Given the description of an element on the screen output the (x, y) to click on. 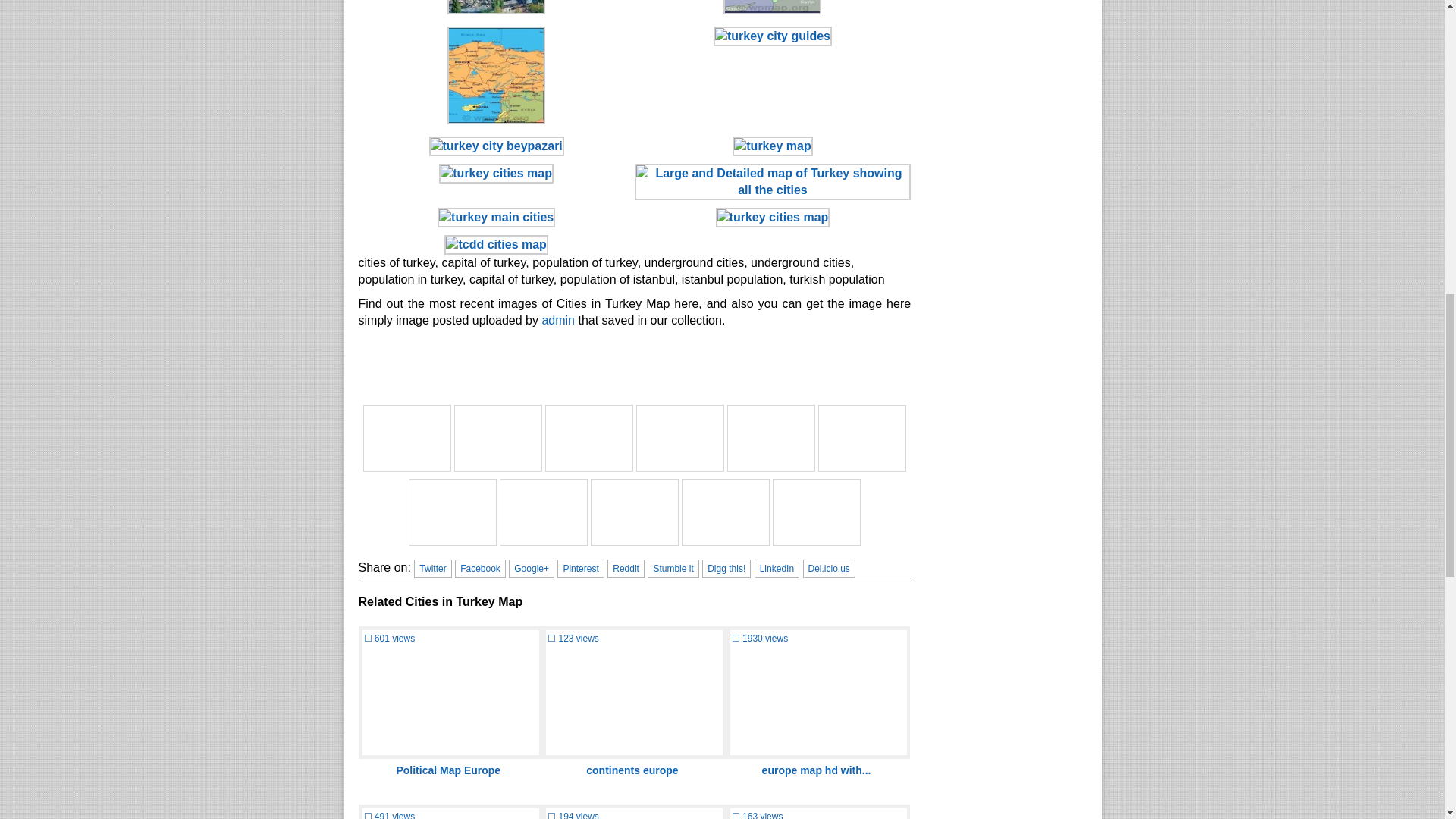
Large and Detailed map of Turkey showing all the cities (679, 437)
turkey main cities (588, 437)
Posts by admin (558, 319)
turkey istanbul city (816, 512)
admin (558, 319)
tcdd cities map (406, 437)
Political Map Europe (448, 770)
Twitter (432, 568)
turkey cities map (770, 437)
Pinterest (580, 568)
Facebook (479, 568)
LinkedIn (776, 568)
turkey map (861, 437)
Stumble it (672, 568)
Reddit (626, 568)
